Given the description of an element on the screen output the (x, y) to click on. 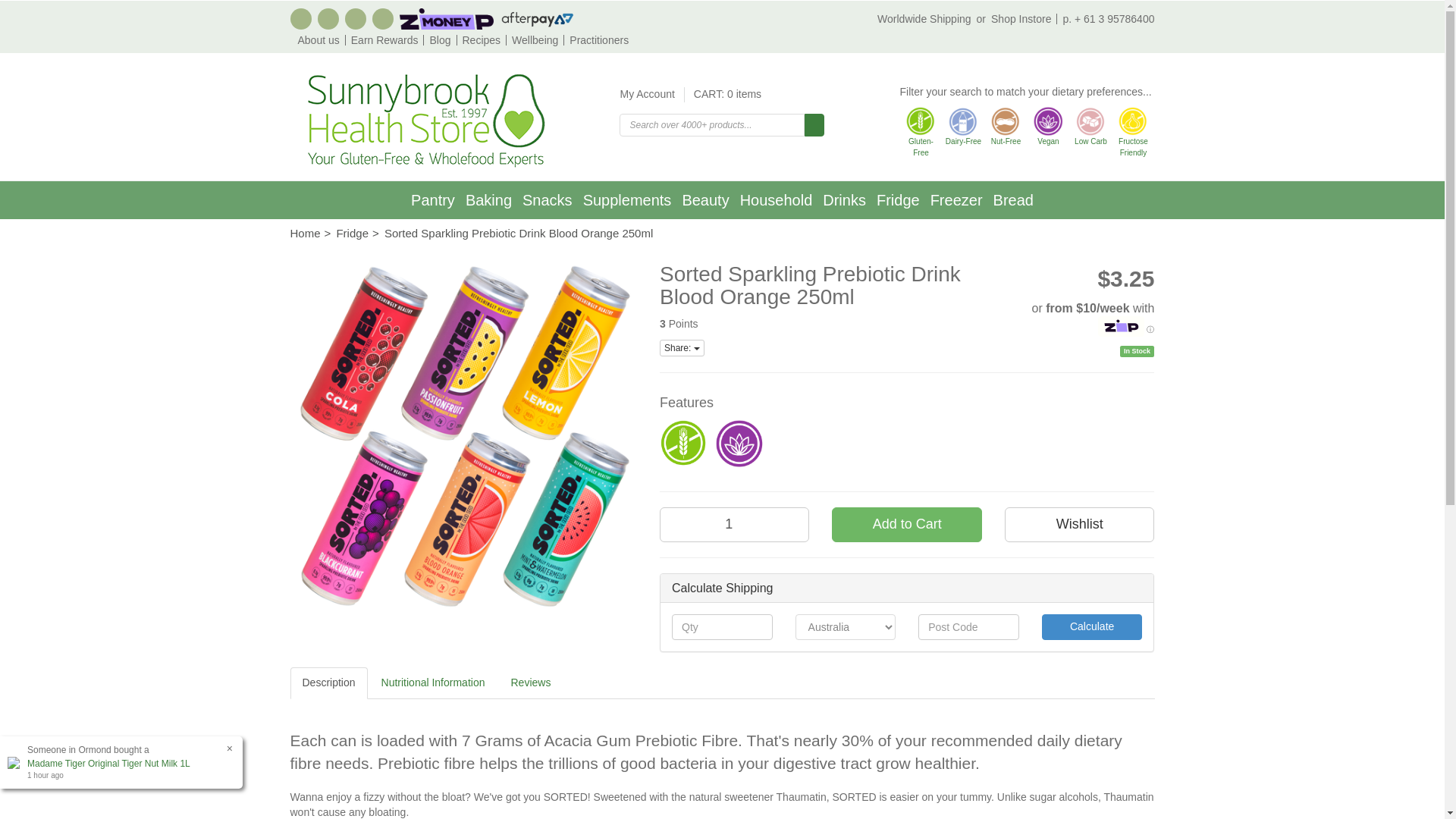
Blog (436, 40)
Practitioners (595, 40)
1 (734, 524)
CART: 0 items (722, 94)
My Account (651, 94)
About us (318, 40)
Calculate (1092, 626)
Shop Instore (1021, 18)
Add to Cart (906, 524)
Earn Rewards (382, 40)
Worldwide Shipping (934, 18)
Wellbeing (531, 40)
Recipes (478, 40)
Sunnybrook Health Store.. (423, 119)
